Given the description of an element on the screen output the (x, y) to click on. 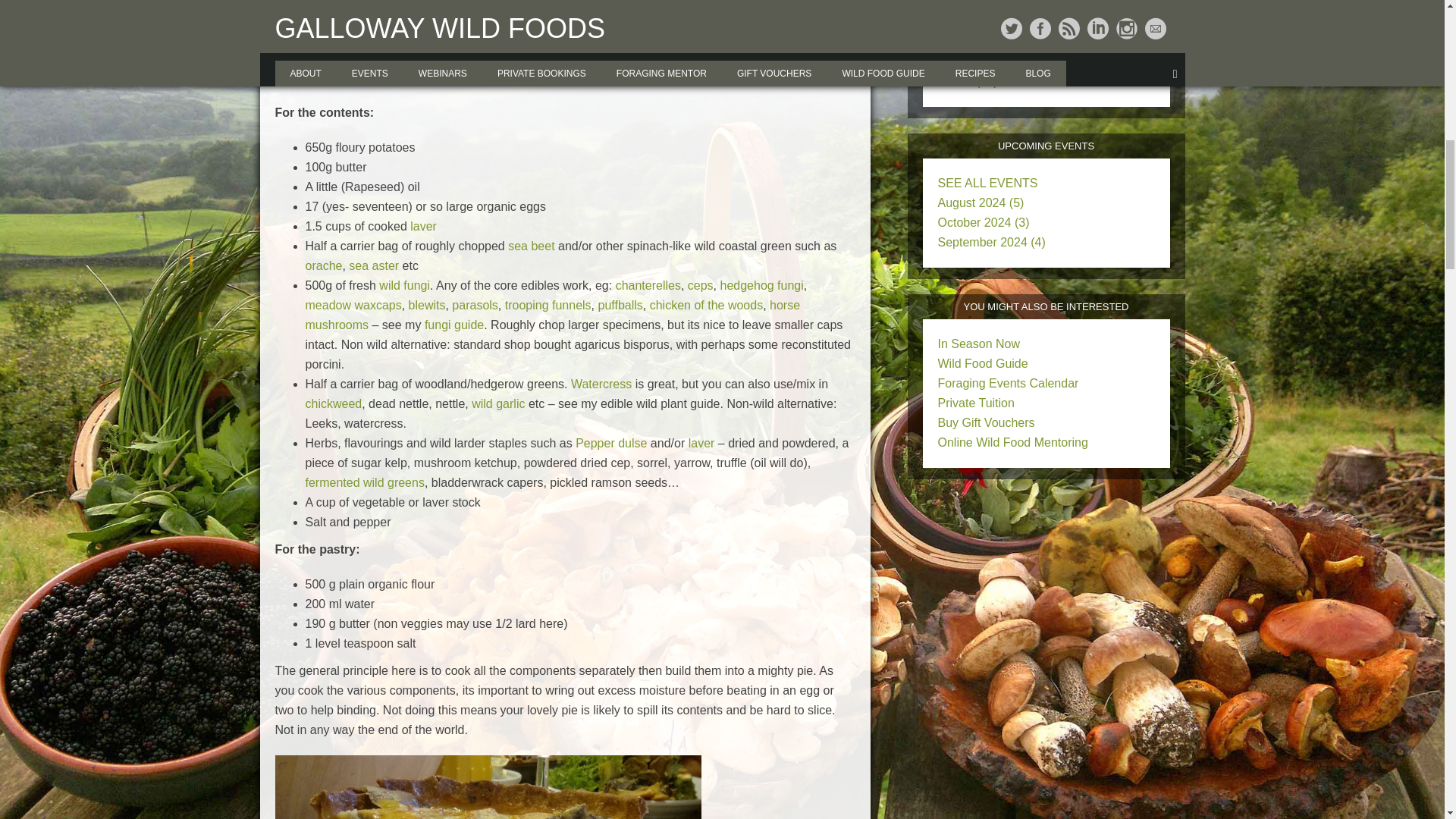
Edible Wild Fungi (403, 285)
